Given the description of an element on the screen output the (x, y) to click on. 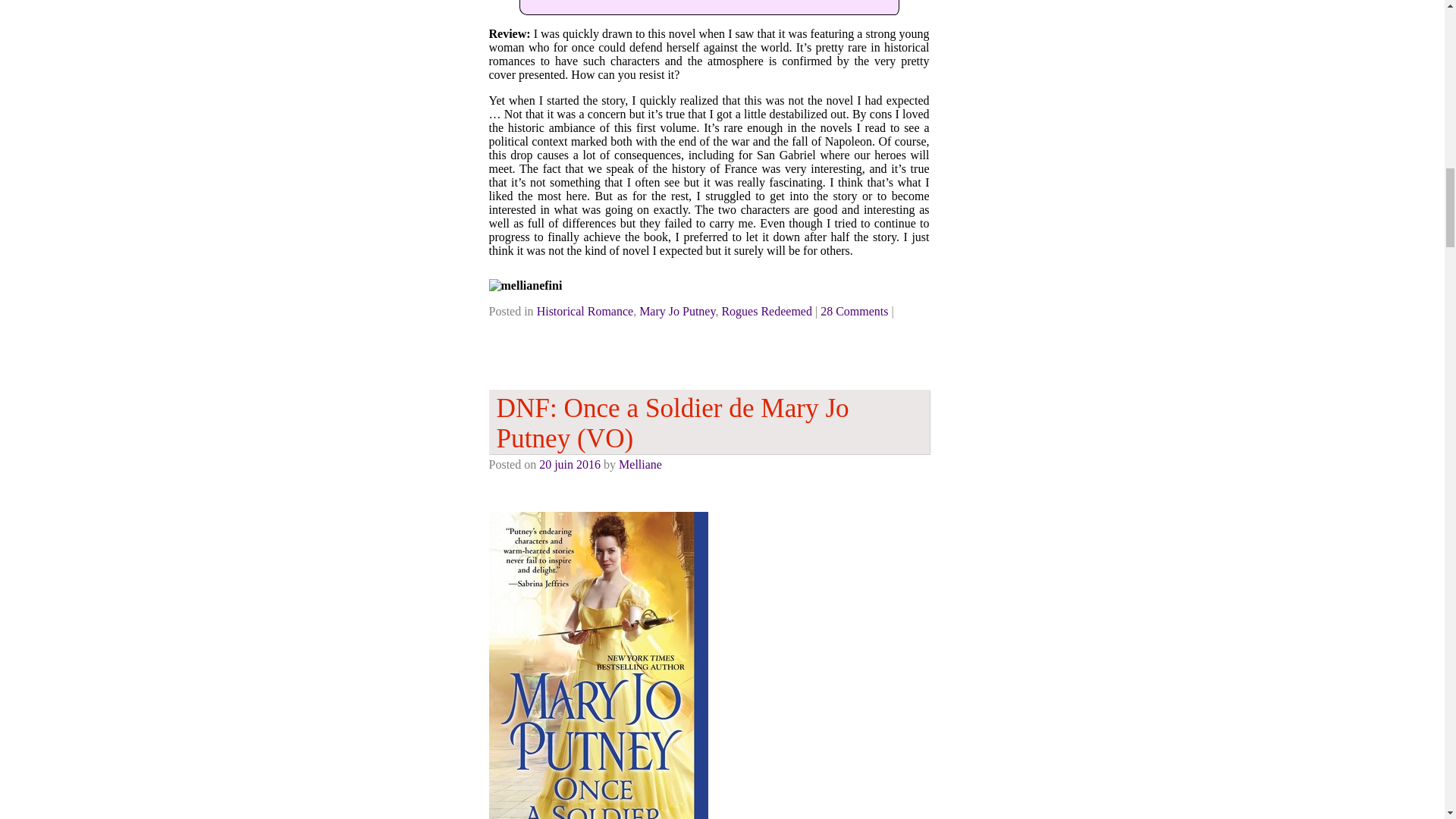
Mary Jo Putney (676, 310)
Historical Romance (585, 310)
6 h 36 min (568, 463)
28 Comments (854, 310)
20 juin 2016 (568, 463)
View all posts by Melliane (640, 463)
Rogues Redeemed (766, 310)
Melliane (640, 463)
